Given the description of an element on the screen output the (x, y) to click on. 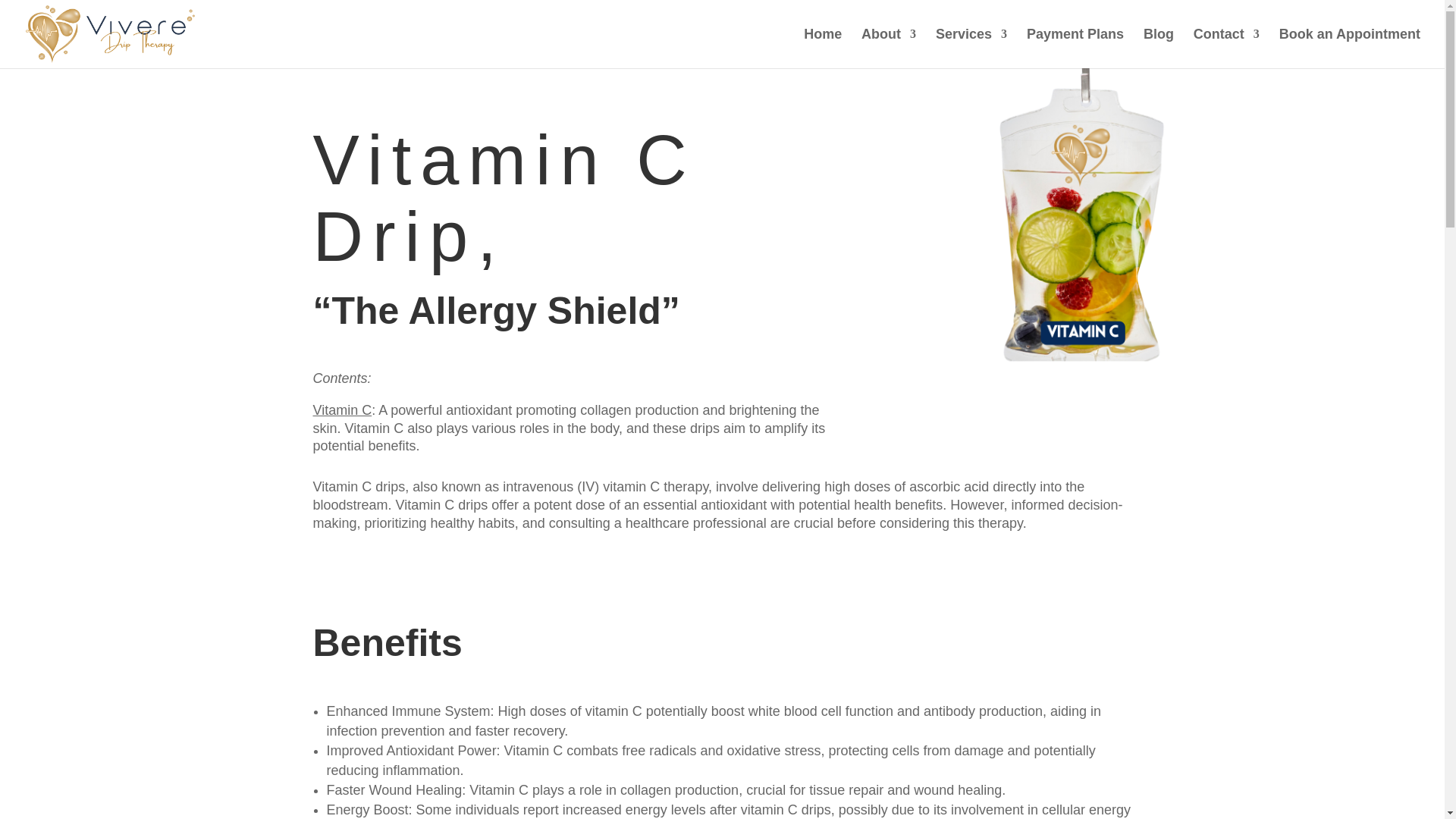
Services (971, 47)
Home (822, 47)
Book an Appointment (1350, 47)
Payment Plans (1075, 47)
Contact (1226, 47)
About (888, 47)
